Given the description of an element on the screen output the (x, y) to click on. 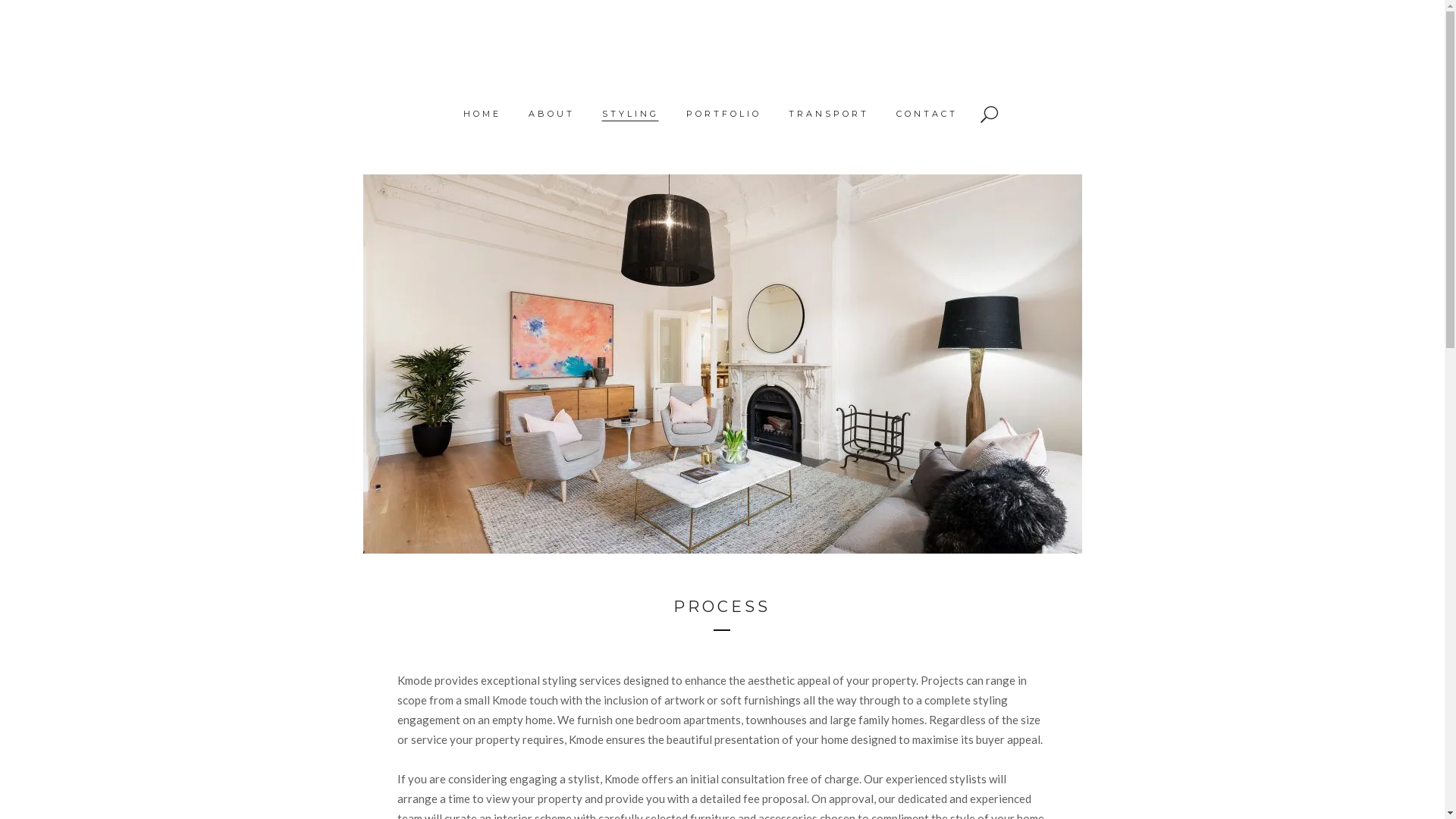
ABOUT Element type: text (550, 113)
PORTFOLIO Element type: text (722, 113)
Original28409647 Element type: hover (721, 363)
TRANSPORT Element type: text (828, 113)
CONTACT Element type: text (926, 113)
HOME Element type: text (481, 113)
STYLING Element type: text (630, 113)
